Given the description of an element on the screen output the (x, y) to click on. 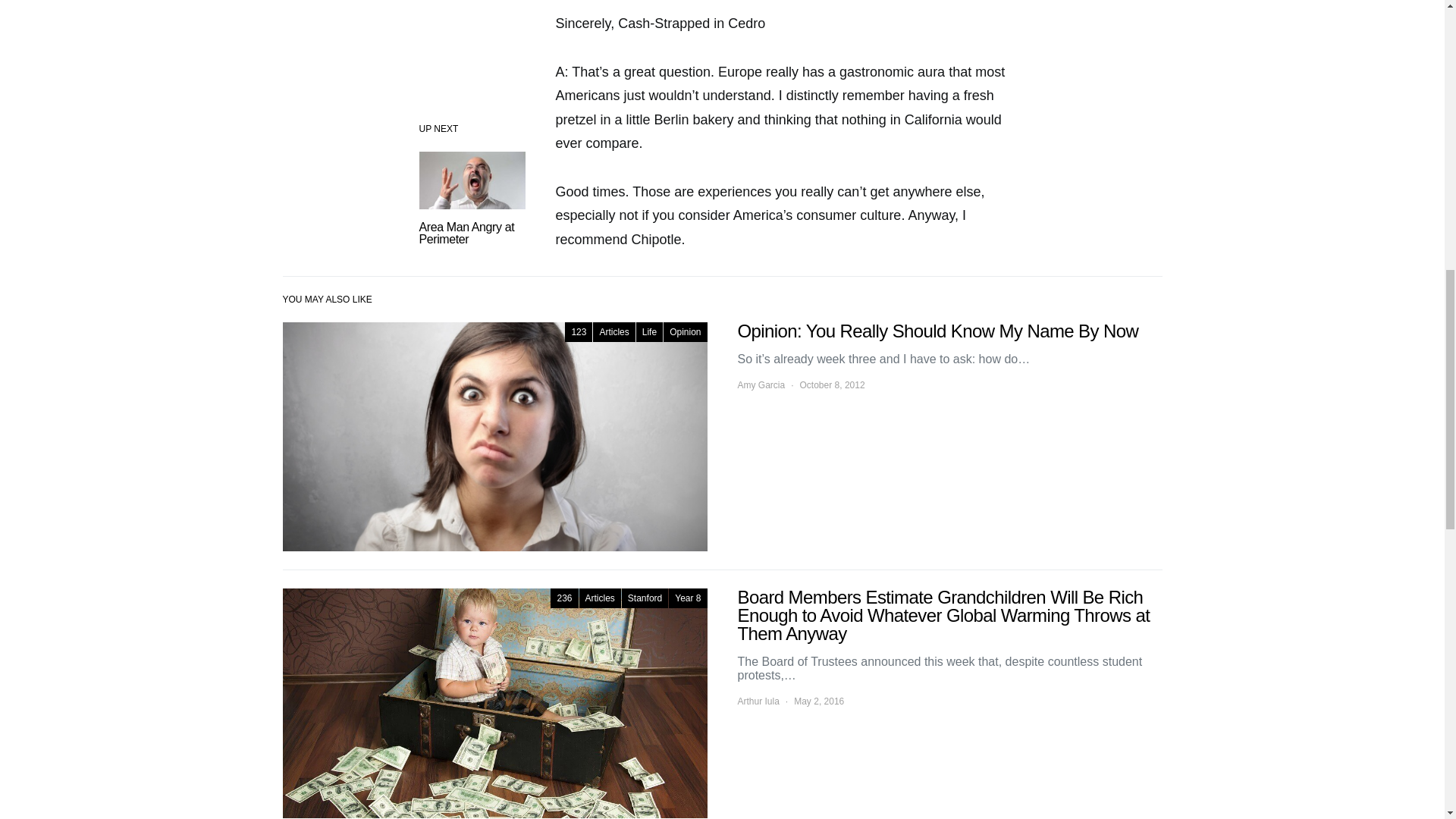
View all posts by Arthur Iula (757, 701)
View all posts by Amy Garcia (760, 385)
